Given the description of an element on the screen output the (x, y) to click on. 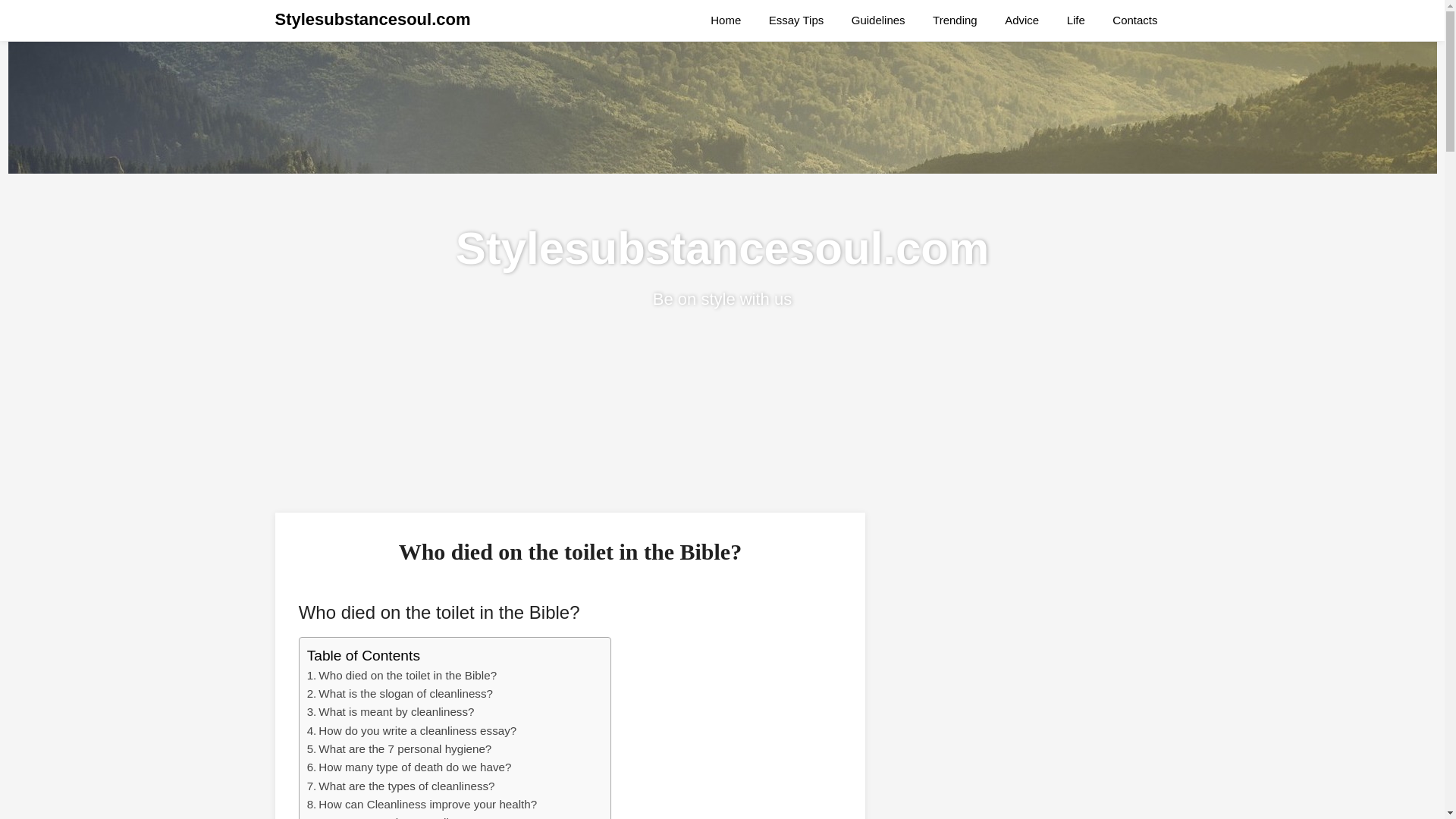
How do you write a cleanliness essay? (417, 730)
Contacts (1134, 20)
How can Cleanliness improve your health? (427, 803)
How many type of death do we have? (414, 766)
Stylesubstancesoul.com (372, 19)
How do you write a cleanliness essay? (417, 730)
How many type of death do we have? (414, 766)
Guidelines (878, 20)
What are the 7 personal hygiene? (405, 748)
What are the types of cleanliness? (406, 785)
